Given the description of an element on the screen output the (x, y) to click on. 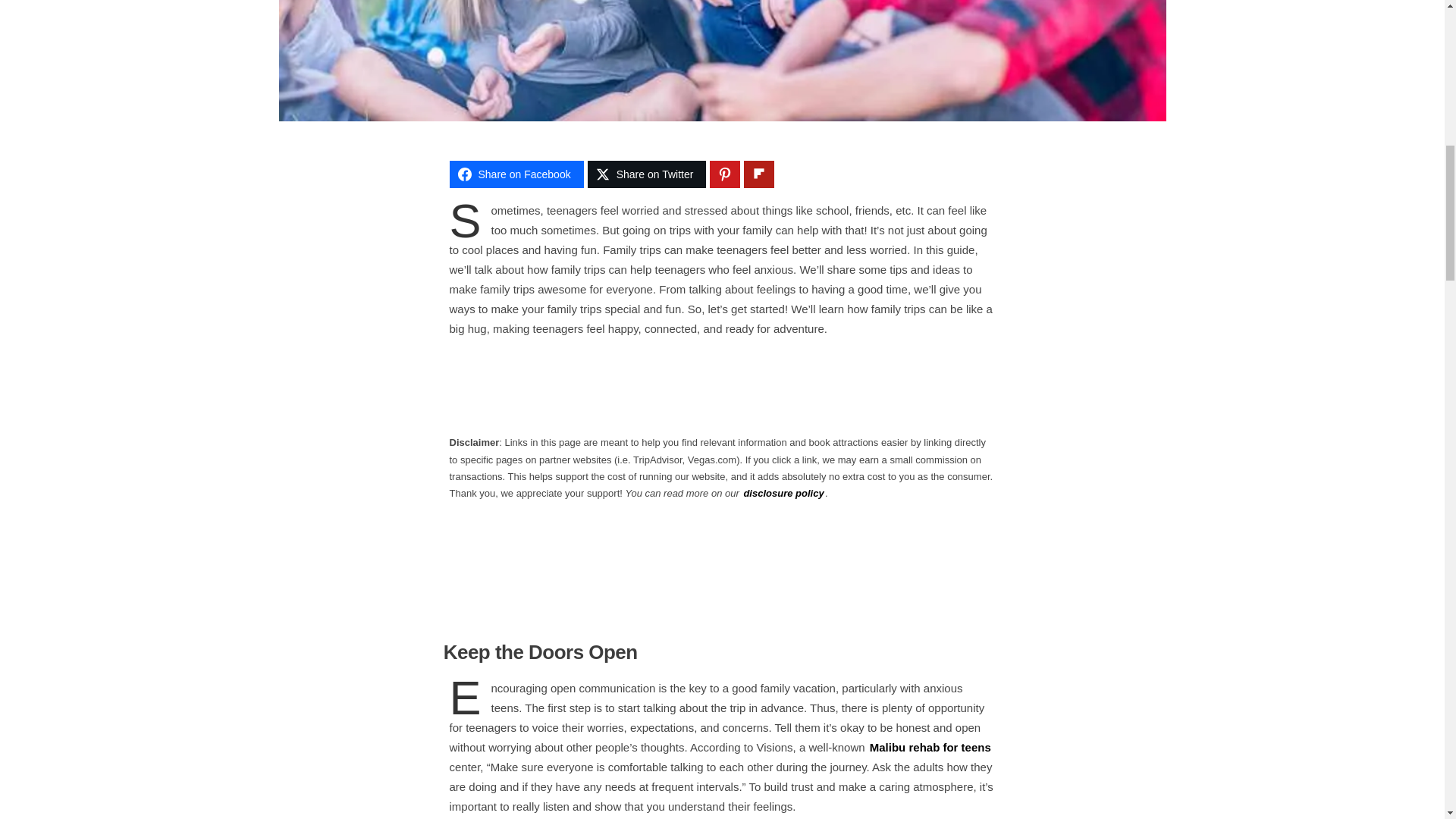
Share on - (724, 174)
Share on - (759, 174)
Share on Share on Twitter (647, 174)
Share on Twitter (647, 174)
Malibu rehab for teens (929, 747)
disclosure policy (783, 492)
Share on Share on Facebook (515, 174)
Share on Facebook (515, 174)
